Given the description of an element on the screen output the (x, y) to click on. 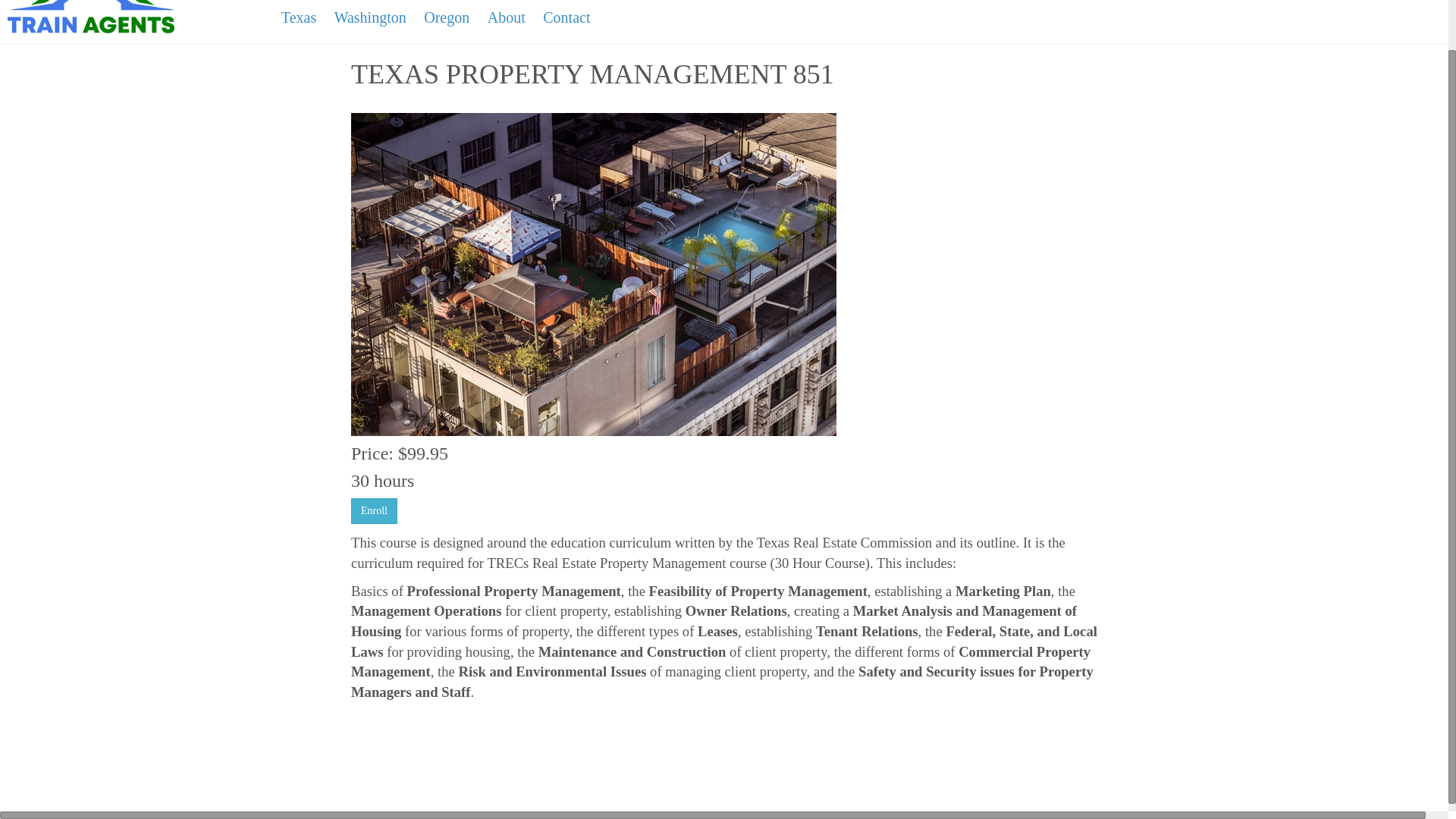
Washington (369, 18)
Contact (565, 18)
Texas (298, 18)
About (506, 18)
Oregon (446, 18)
Enroll (373, 510)
